Given the description of an element on the screen output the (x, y) to click on. 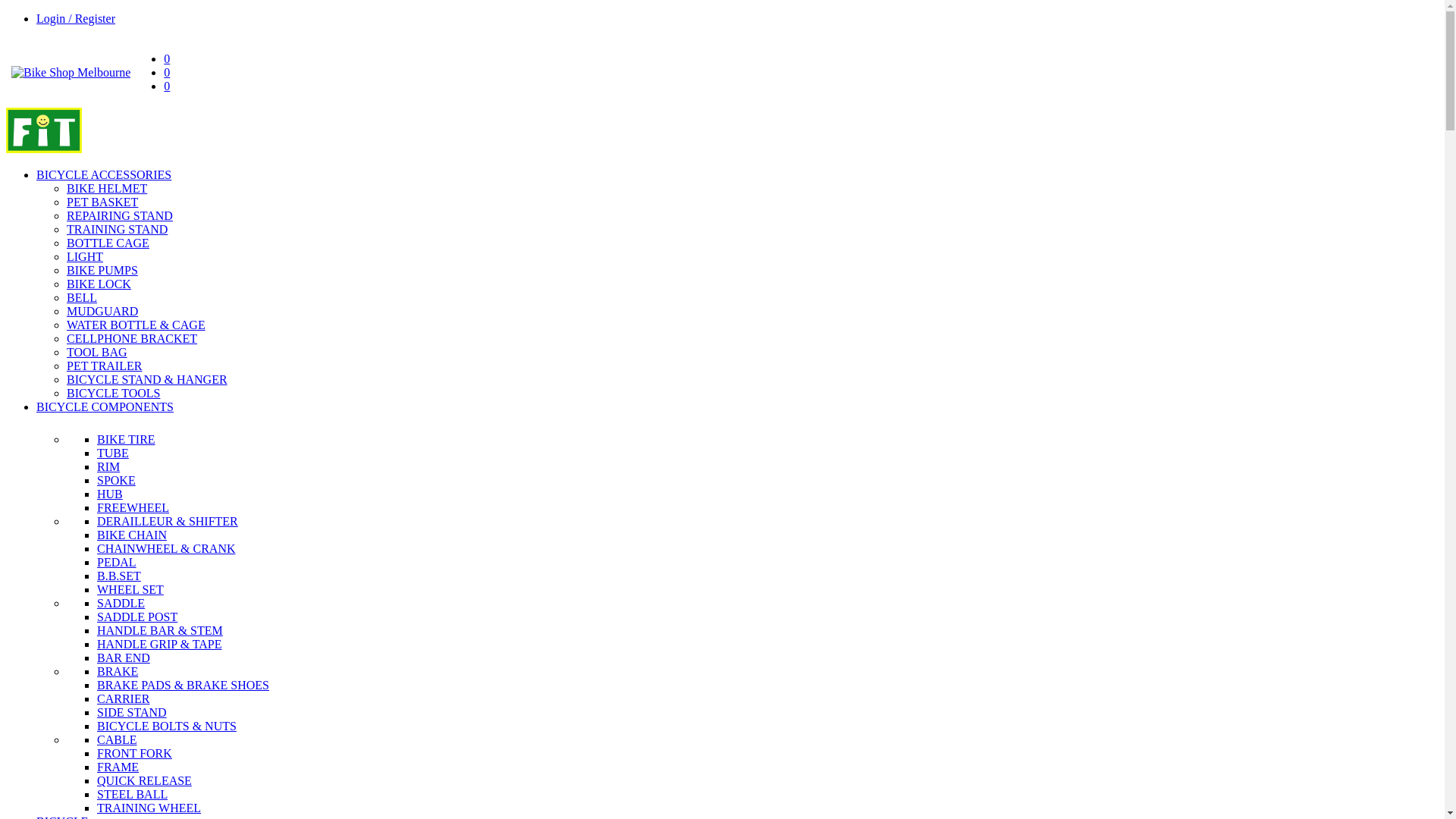
BICYCLE ACCESSORIES Element type: text (103, 174)
B.B.SET Element type: text (119, 577)
WHEEL SET Element type: text (130, 591)
BIKE LOCK Element type: text (98, 283)
BOTTLE CAGE Element type: text (107, 242)
HUB Element type: text (109, 495)
FREEWHEEL Element type: text (133, 509)
TRAINING WHEEL Element type: text (148, 809)
CARRIER Element type: text (123, 700)
0 Element type: text (166, 71)
WATER BOTTLE & CAGE Element type: text (135, 324)
BICYCLE TOOLS Element type: text (113, 392)
BICYCLE STAND & HANGER Element type: text (146, 379)
0 Element type: text (166, 58)
TOOL BAG Element type: text (96, 351)
BICYCLE COMPONENTS Element type: text (104, 406)
BAR END Element type: text (123, 659)
SPOKE Element type: text (116, 481)
SIDE STAND Element type: text (131, 714)
Login / Register Element type: text (75, 18)
TRAINING STAND Element type: text (116, 228)
BIKE CHAIN Element type: text (131, 536)
BRAKE PADS & BRAKE SHOES Element type: text (183, 686)
DERAILLEUR & SHIFTER Element type: text (167, 522)
HANDLE BAR & STEM Element type: text (159, 632)
STEEL BALL Element type: text (132, 795)
RIM Element type: text (108, 468)
SADDLE POST Element type: text (137, 618)
BIKE PUMPS Element type: text (102, 269)
FRONT FORK Element type: text (134, 754)
Bike Shop Melbourne -  Element type: hover (43, 148)
TUBE Element type: text (112, 454)
MUDGUARD Element type: text (102, 310)
PEDAL Element type: text (116, 563)
BELL Element type: text (81, 297)
CABLE Element type: text (116, 741)
BICYCLE BOLTS & NUTS Element type: text (166, 727)
CHAINWHEEL & CRANK Element type: text (166, 550)
LIGHT Element type: text (84, 256)
0 Element type: text (166, 85)
PET TRAILER Element type: text (103, 365)
BIKE HELMET Element type: text (106, 188)
HANDLE GRIP & TAPE Element type: text (159, 645)
REPAIRING STAND Element type: text (119, 215)
PET BASKET Element type: text (102, 201)
FRAME Element type: text (117, 768)
QUICK RELEASE Element type: text (144, 782)
Bike Shop Melbourne -  Element type: hover (70, 71)
BIKE TIRE Element type: text (126, 441)
SADDLE Element type: text (120, 604)
CELLPHONE BRACKET Element type: text (131, 338)
BRAKE Element type: text (117, 673)
